Given the description of an element on the screen output the (x, y) to click on. 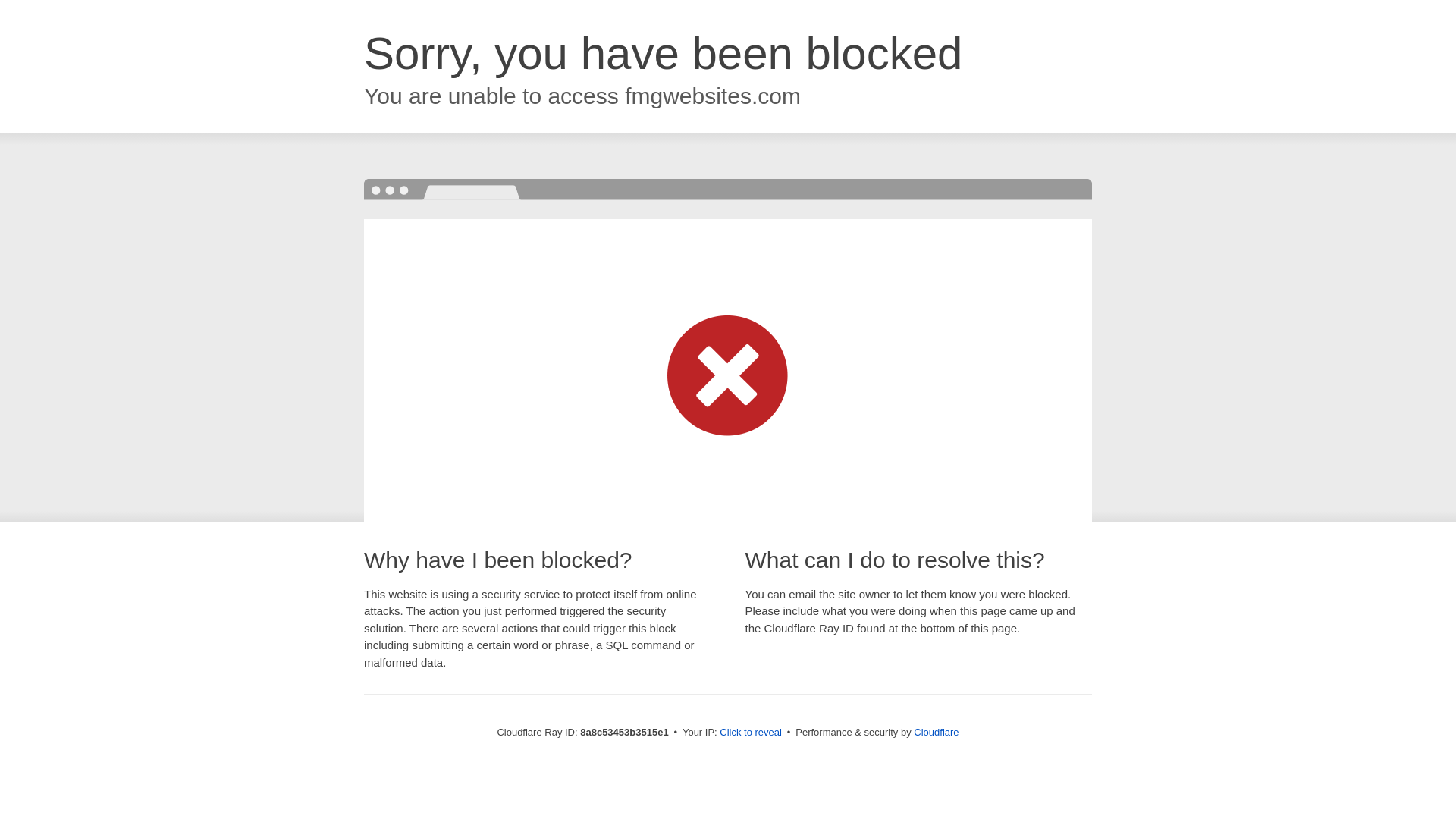
Cloudflare (936, 731)
Click to reveal (750, 732)
